Given the description of an element on the screen output the (x, y) to click on. 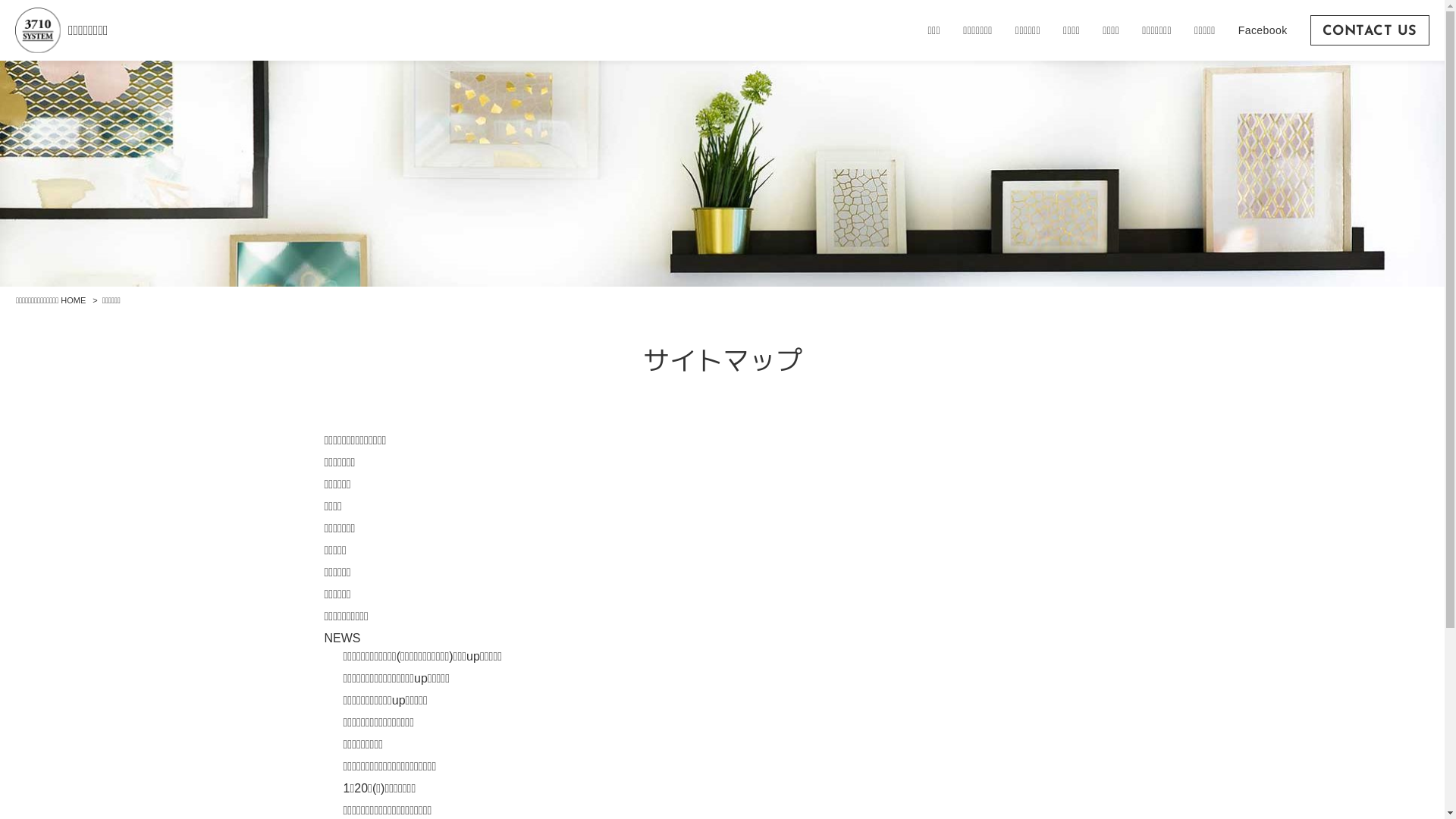
Facebook Element type: text (1262, 29)
CONTACT US Element type: text (1369, 30)
NEWS Element type: text (342, 637)
